Given the description of an element on the screen output the (x, y) to click on. 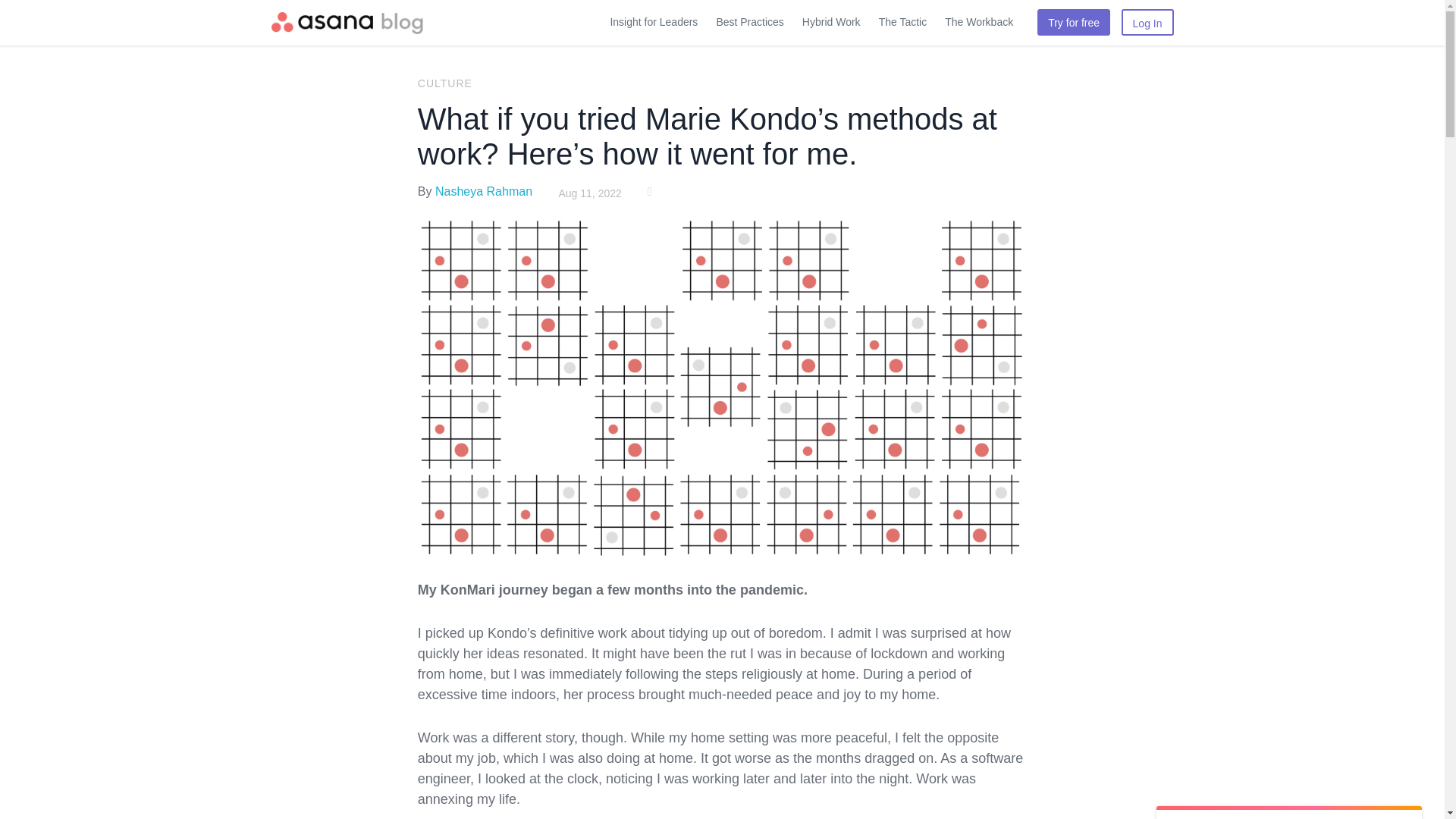
The Workback (979, 21)
Try for free (1072, 22)
Posts by Nasheya Rahman (483, 191)
Nasheya Rahman (483, 191)
View all posts in Culture (444, 82)
Hybrid Work (831, 21)
CULTURE (444, 82)
Best Practices (749, 21)
Insight for Leaders (652, 21)
The Tactic (902, 21)
